Given the description of an element on the screen output the (x, y) to click on. 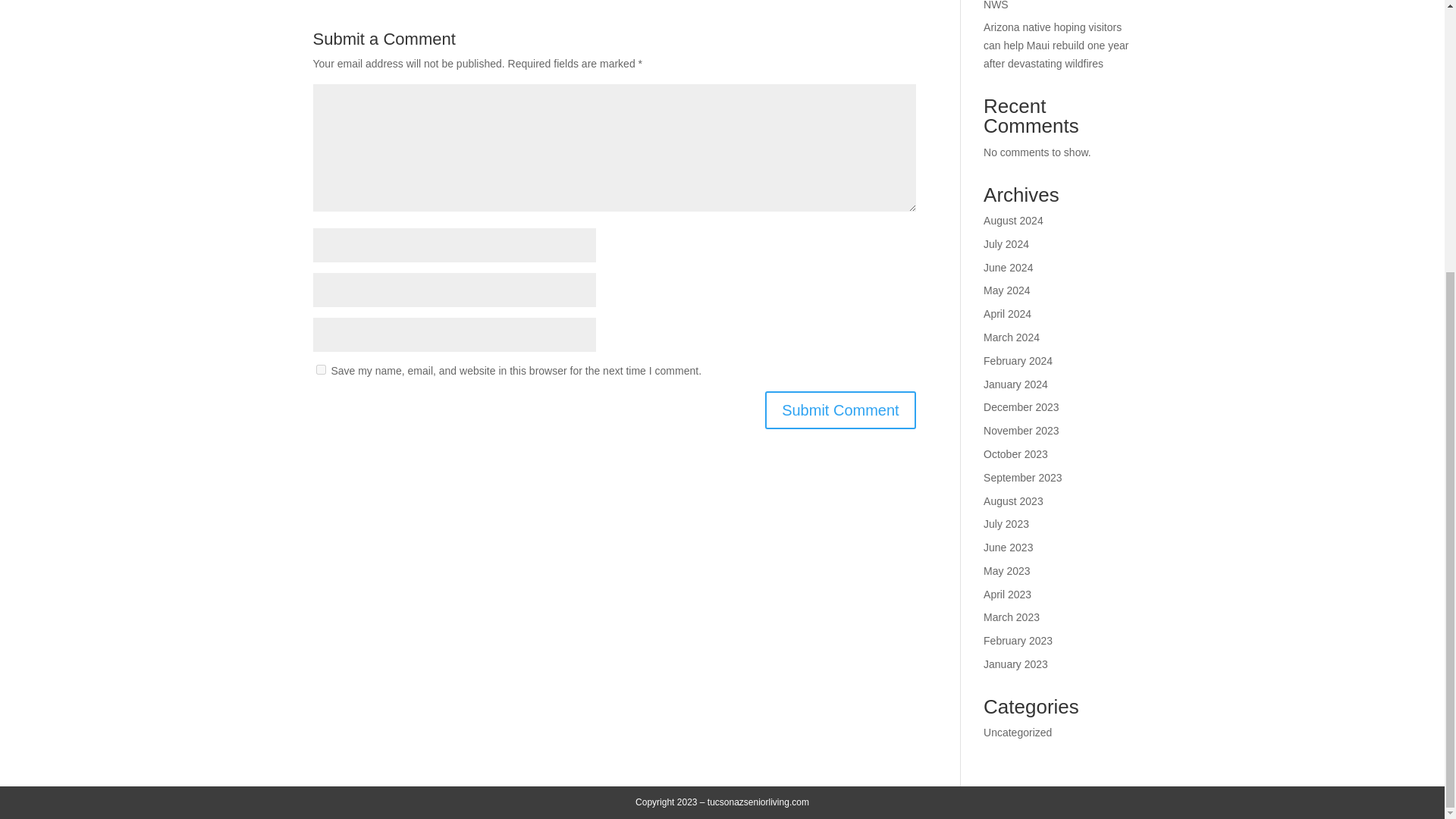
December 2023 (1021, 407)
May 2024 (1006, 290)
February 2023 (1018, 640)
Submit Comment (840, 410)
July 2023 (1006, 523)
January 2024 (1016, 384)
August 2024 (1013, 220)
October 2023 (1016, 453)
June 2024 (1008, 267)
May 2023 (1006, 571)
